Given the description of an element on the screen output the (x, y) to click on. 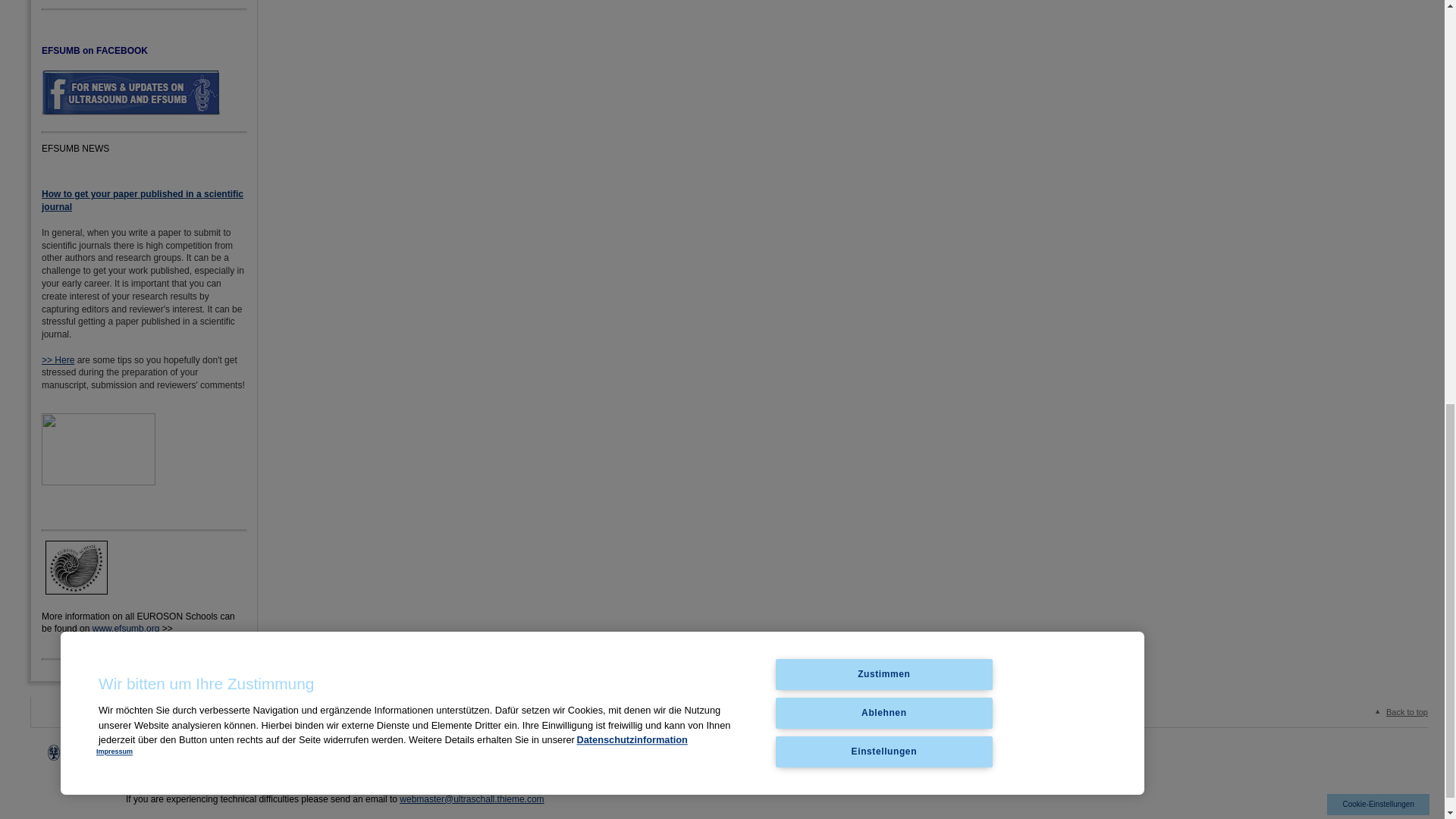
Georg Thieme Verlag KG (389, 750)
How to get your paper published in a scientific journal (142, 200)
www.efsumb.org (126, 628)
Back to top (1399, 711)
